Given the description of an element on the screen output the (x, y) to click on. 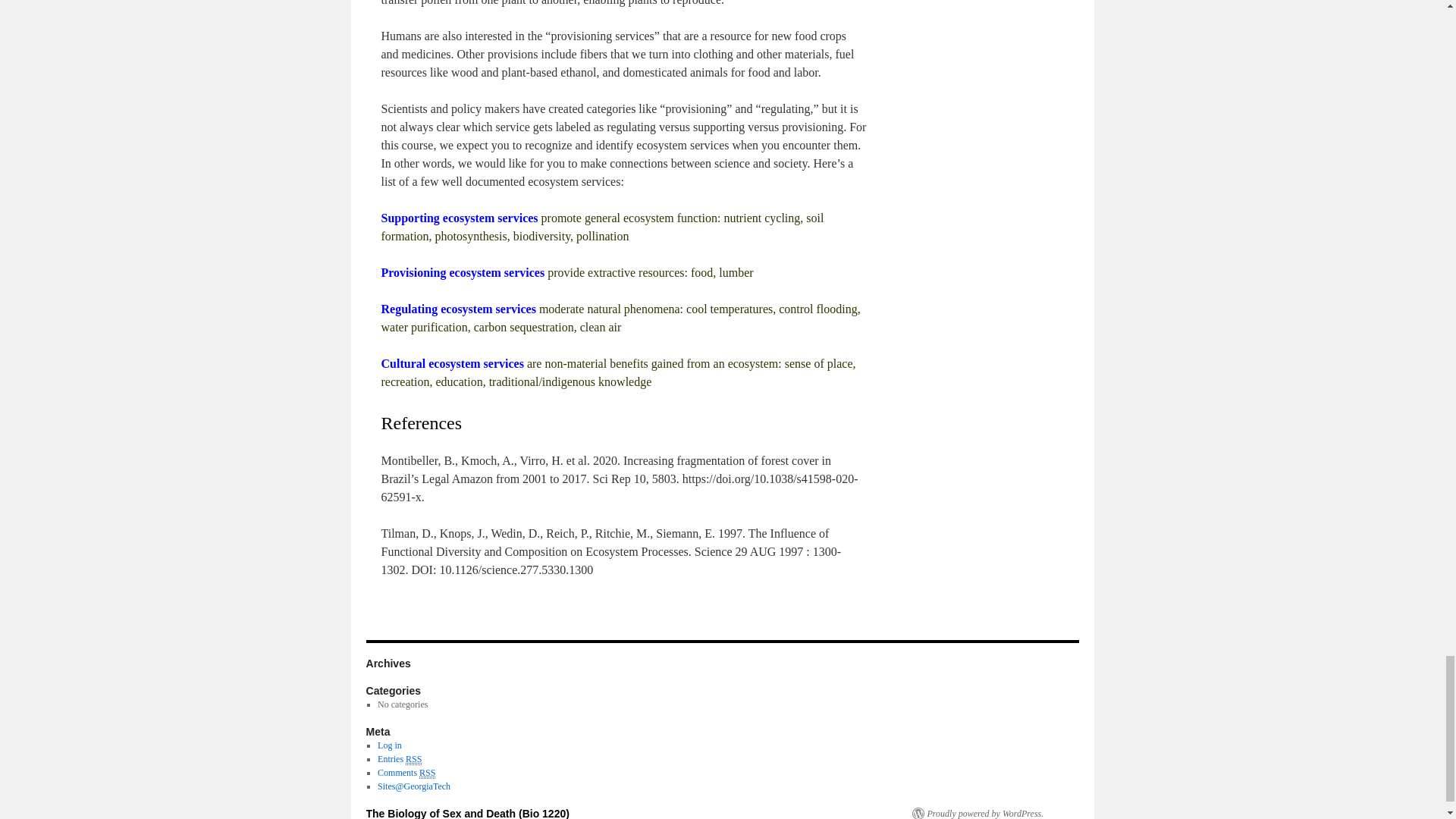
Really Simple Syndication (414, 758)
Really Simple Syndication (427, 772)
The latest comments to all posts in RSS (406, 772)
Syndicate this site using RSS 2.0 (399, 758)
